Given the description of an element on the screen output the (x, y) to click on. 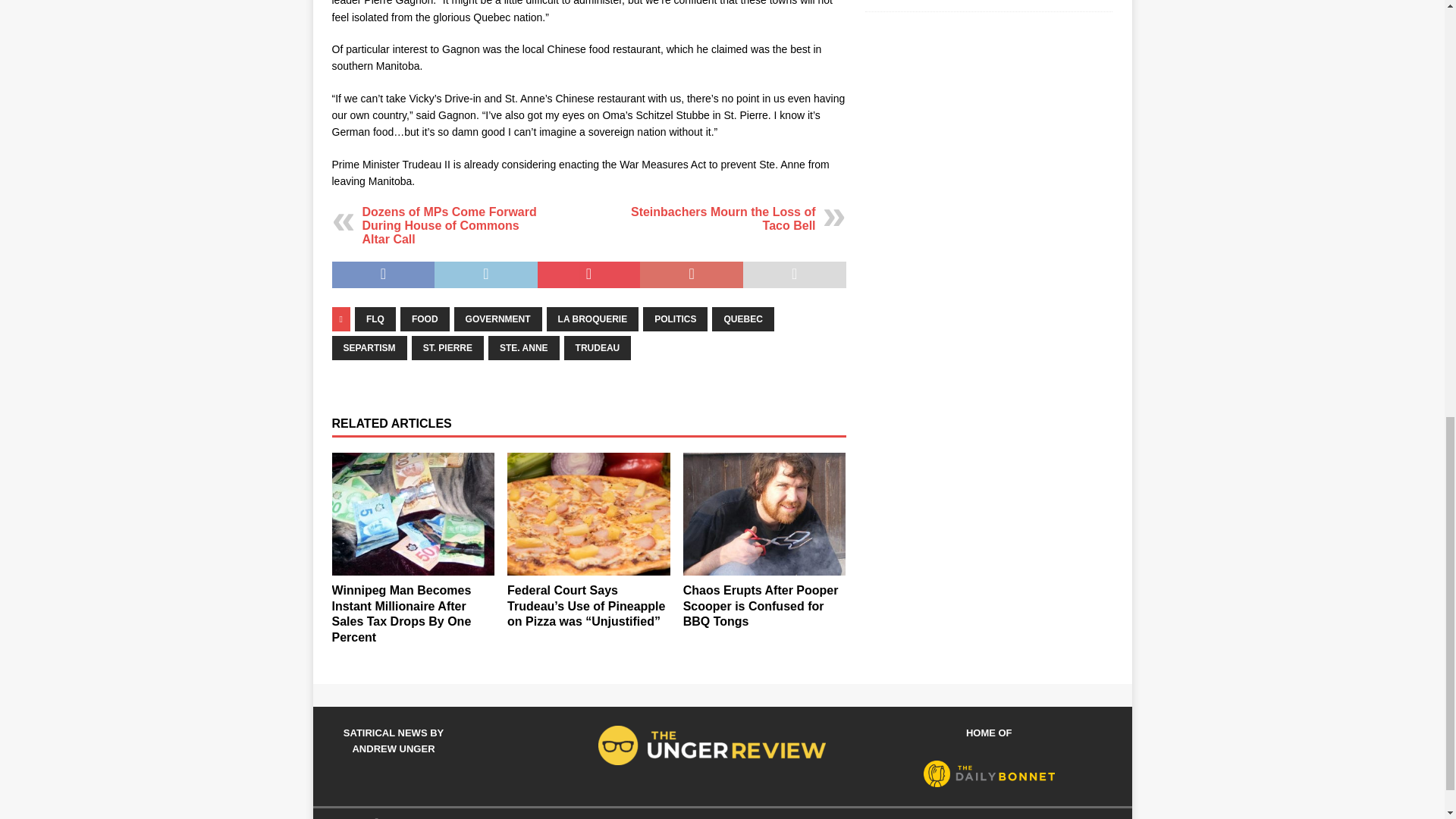
Chaos Erupts After Pooper Scooper is Confused for BBQ Tongs (763, 513)
Steinbachers Mourn the Loss of Taco Bell (722, 218)
